Given the description of an element on the screen output the (x, y) to click on. 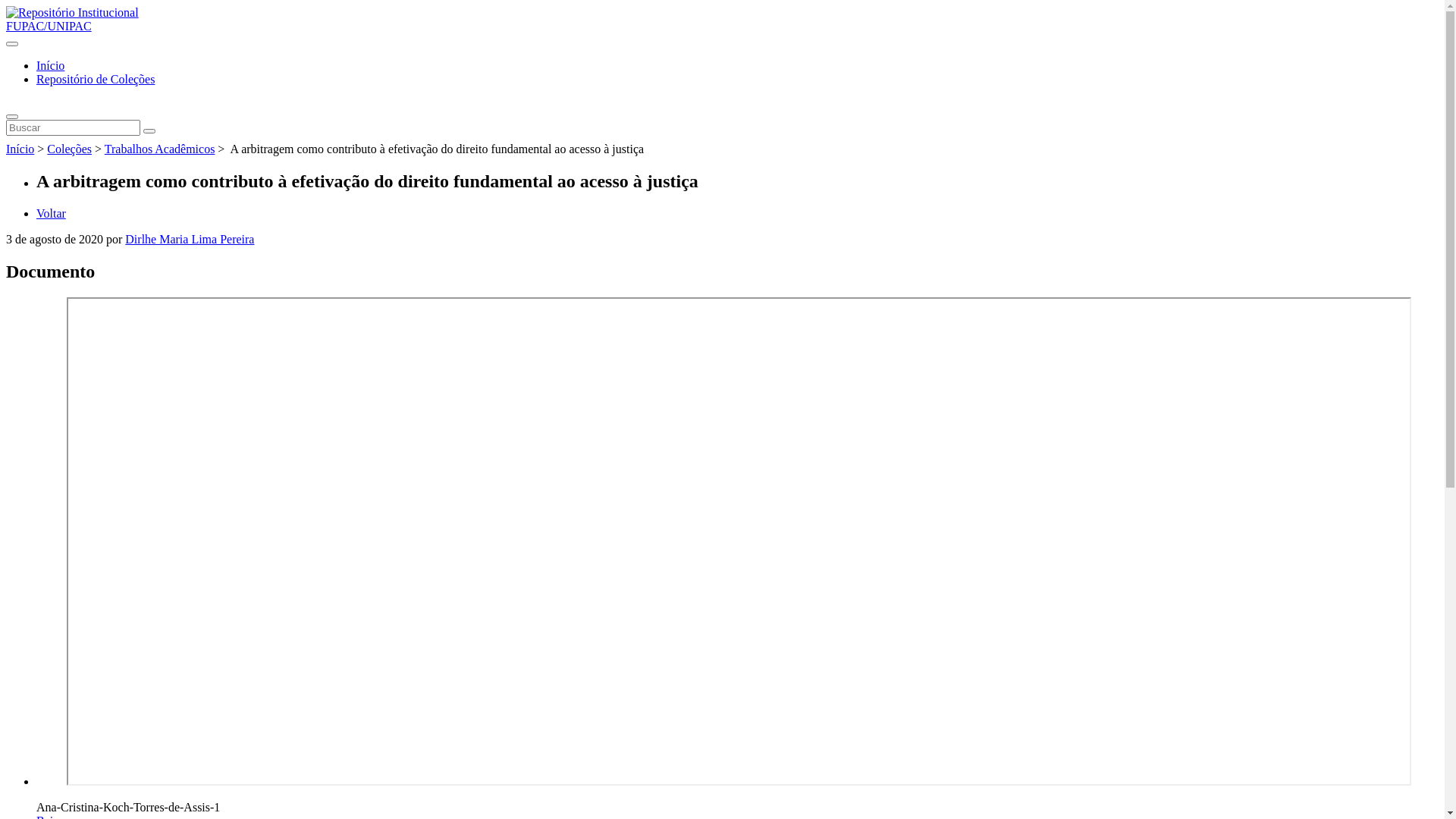
Dirlhe Maria Lima Pereira Element type: text (189, 238)
Voltar Element type: text (50, 213)
